Given the description of an element on the screen output the (x, y) to click on. 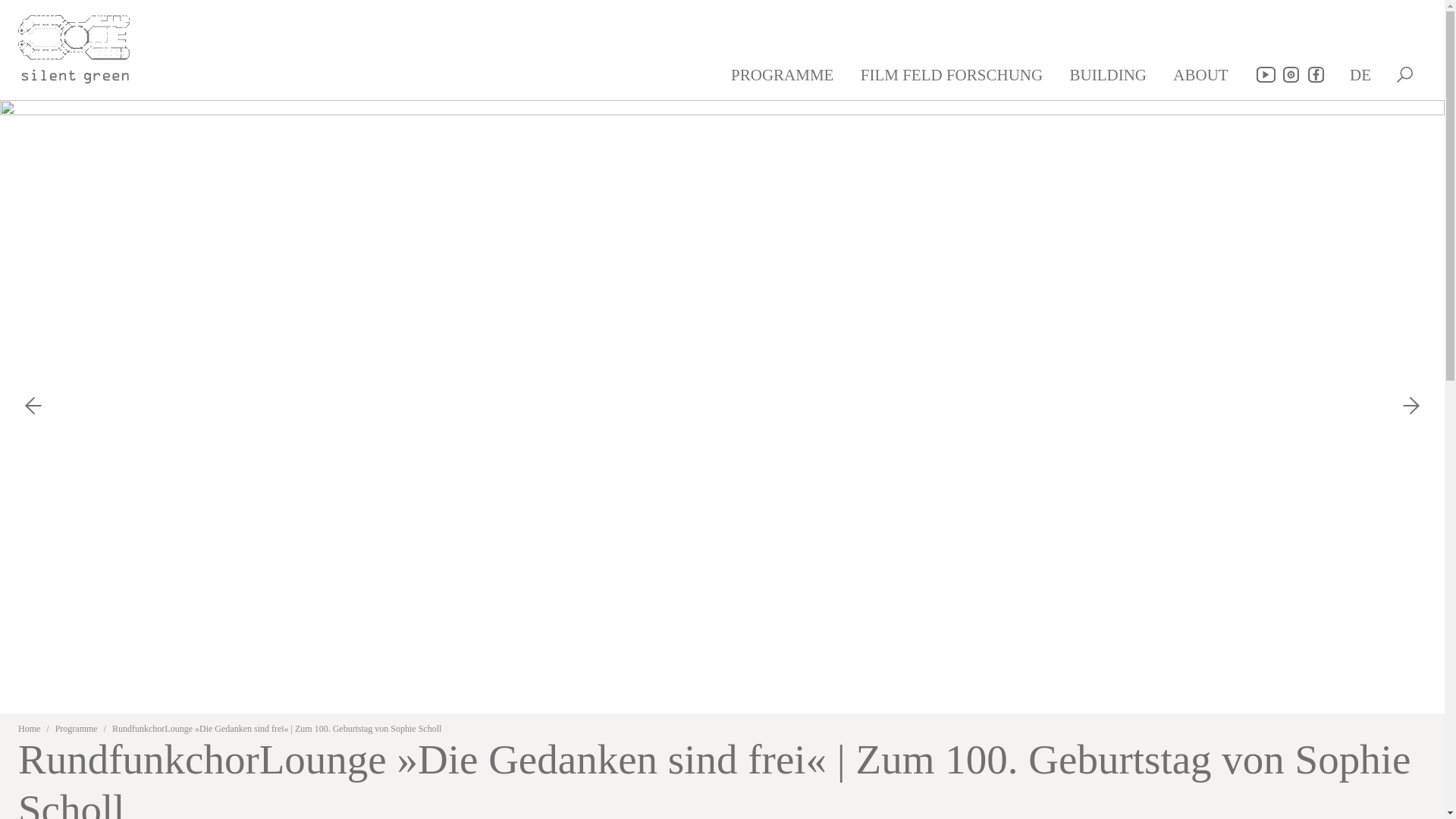
Home (28, 728)
Link zur Startseite (82, 44)
BUILDING (1109, 74)
silent green on Youtube (1265, 74)
Programme (76, 728)
ABOUT (1202, 74)
FILM FELD FORSCHUNG (953, 74)
silent green on Instagram (1290, 74)
Deutsch (1360, 74)
DE (1360, 74)
PROGRAMME (784, 74)
silent green on Facebook (1315, 74)
